Given the description of an element on the screen output the (x, y) to click on. 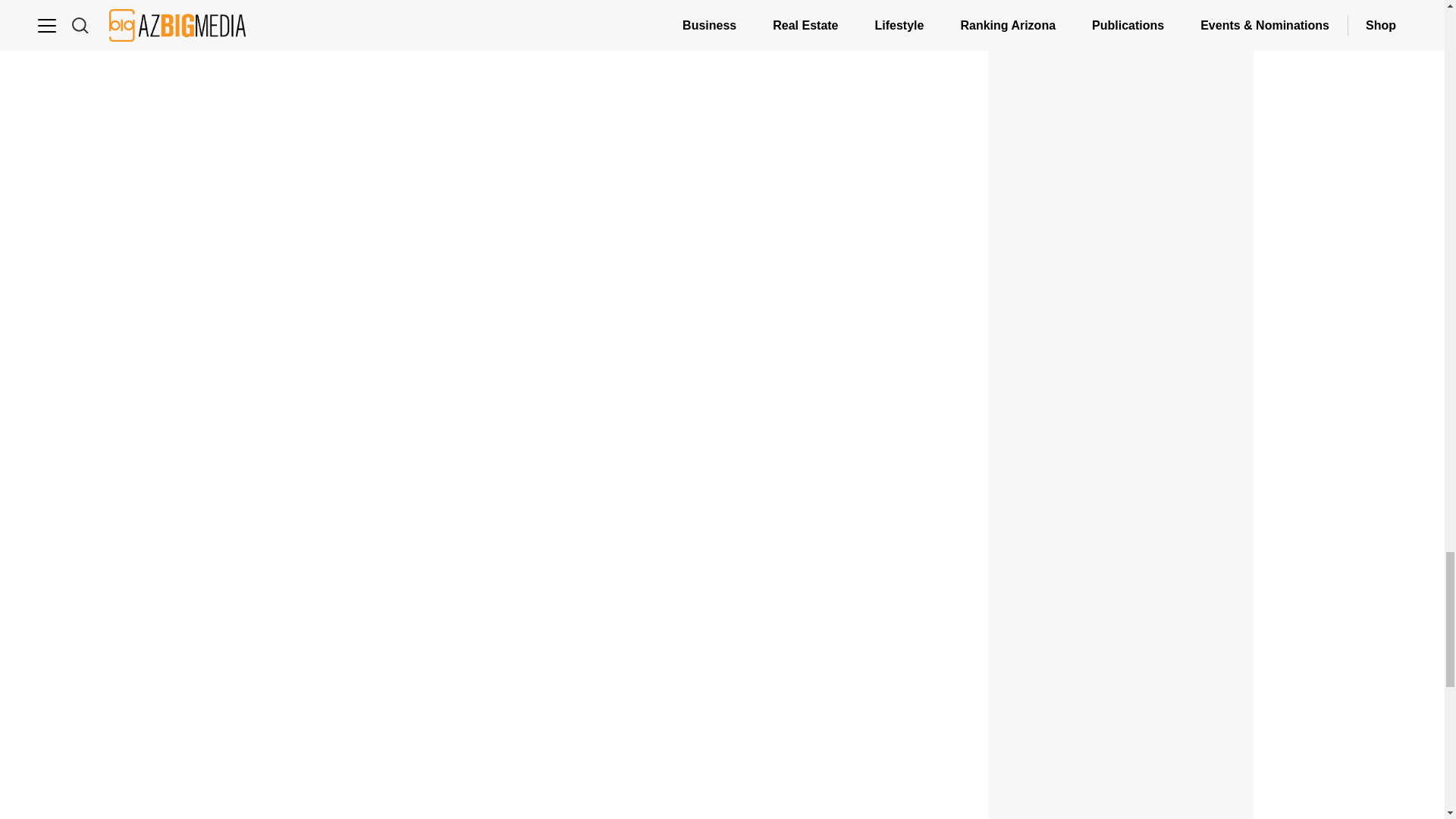
3rd party ad content (1120, 753)
3rd party ad content (1120, 366)
3rd party ad content (1120, 574)
3rd party ad content (1120, 158)
